Given the description of an element on the screen output the (x, y) to click on. 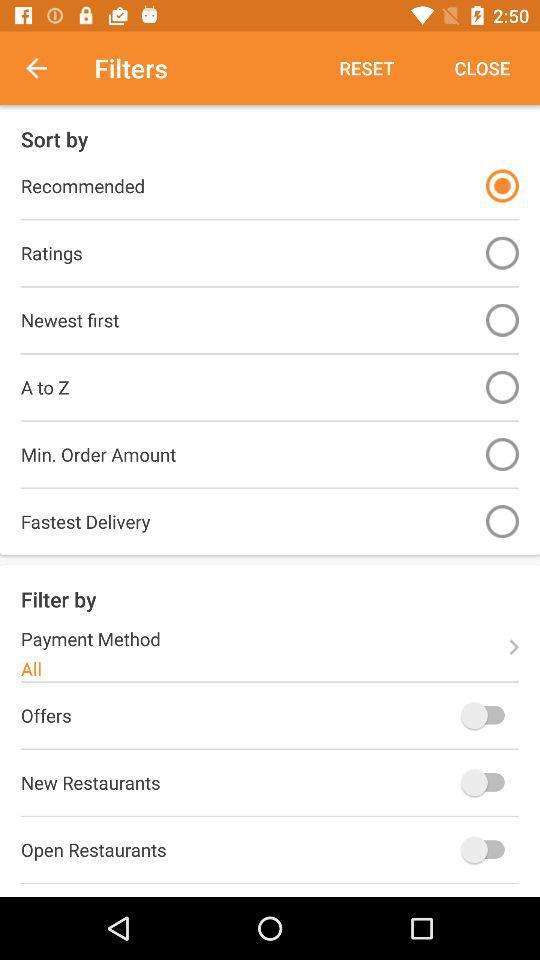
return to previous page (47, 68)
